Given the description of an element on the screen output the (x, y) to click on. 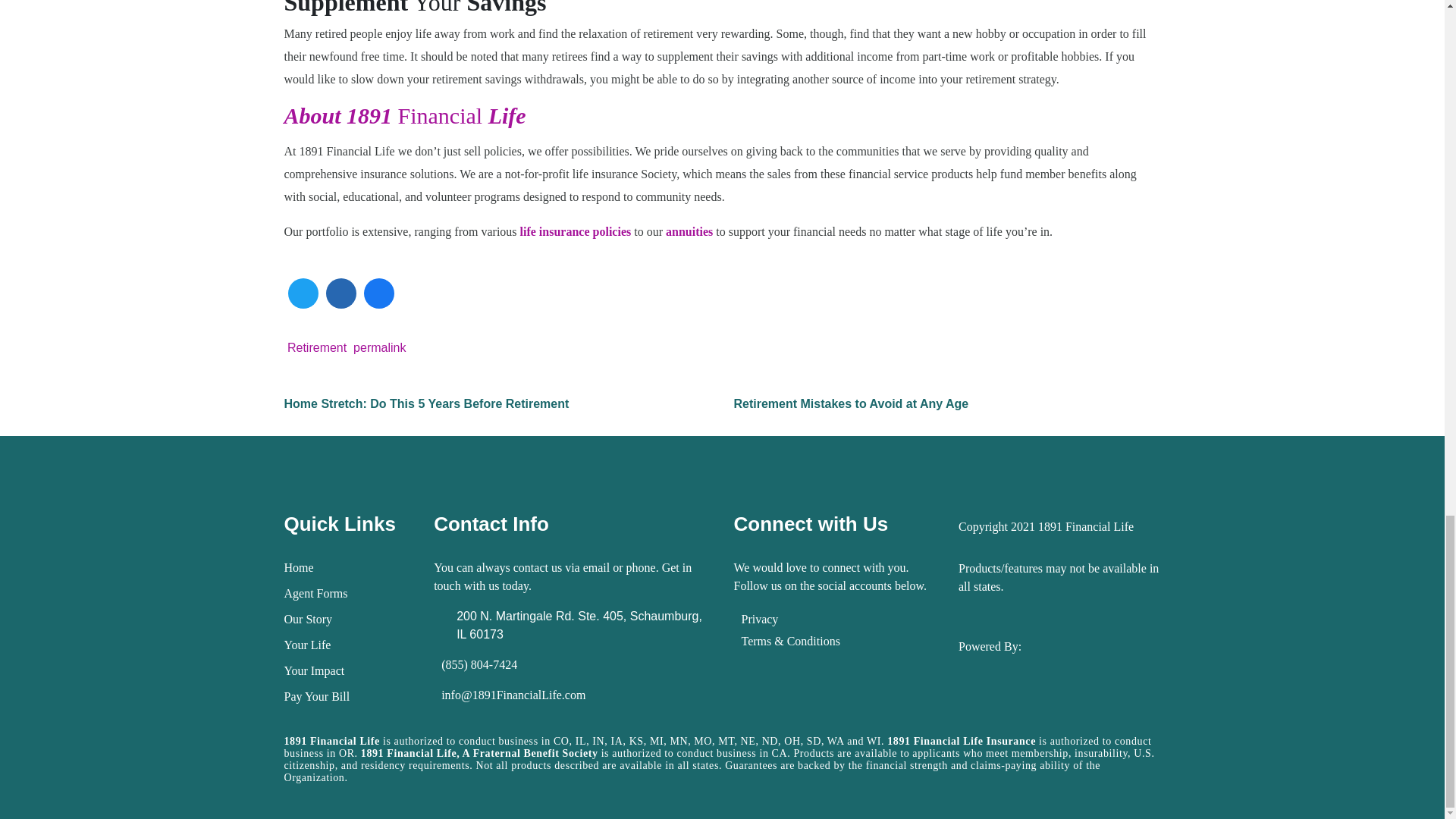
Share on Twitter. (312, 92)
Share on LinkedIn (355, 108)
Share on Facebook. (397, 92)
